Given the description of an element on the screen output the (x, y) to click on. 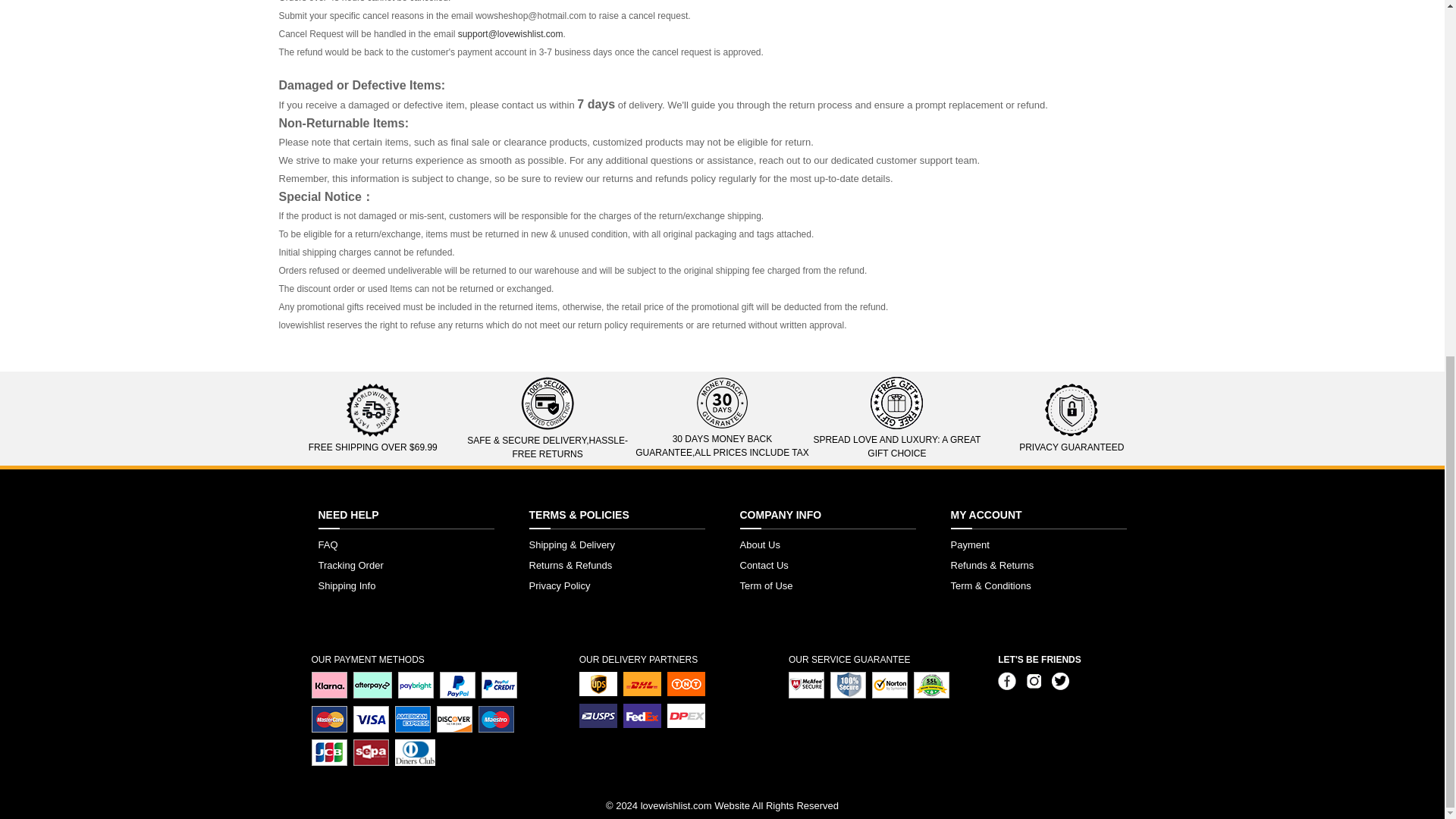
About Us (759, 544)
FAQ (327, 544)
Term of Use (766, 585)
lovewishlist.com (675, 805)
Shipping Info (346, 585)
Contact Us (764, 564)
Payment (970, 544)
Tracking Order (351, 564)
Privacy Policy (560, 585)
